Given the description of an element on the screen output the (x, y) to click on. 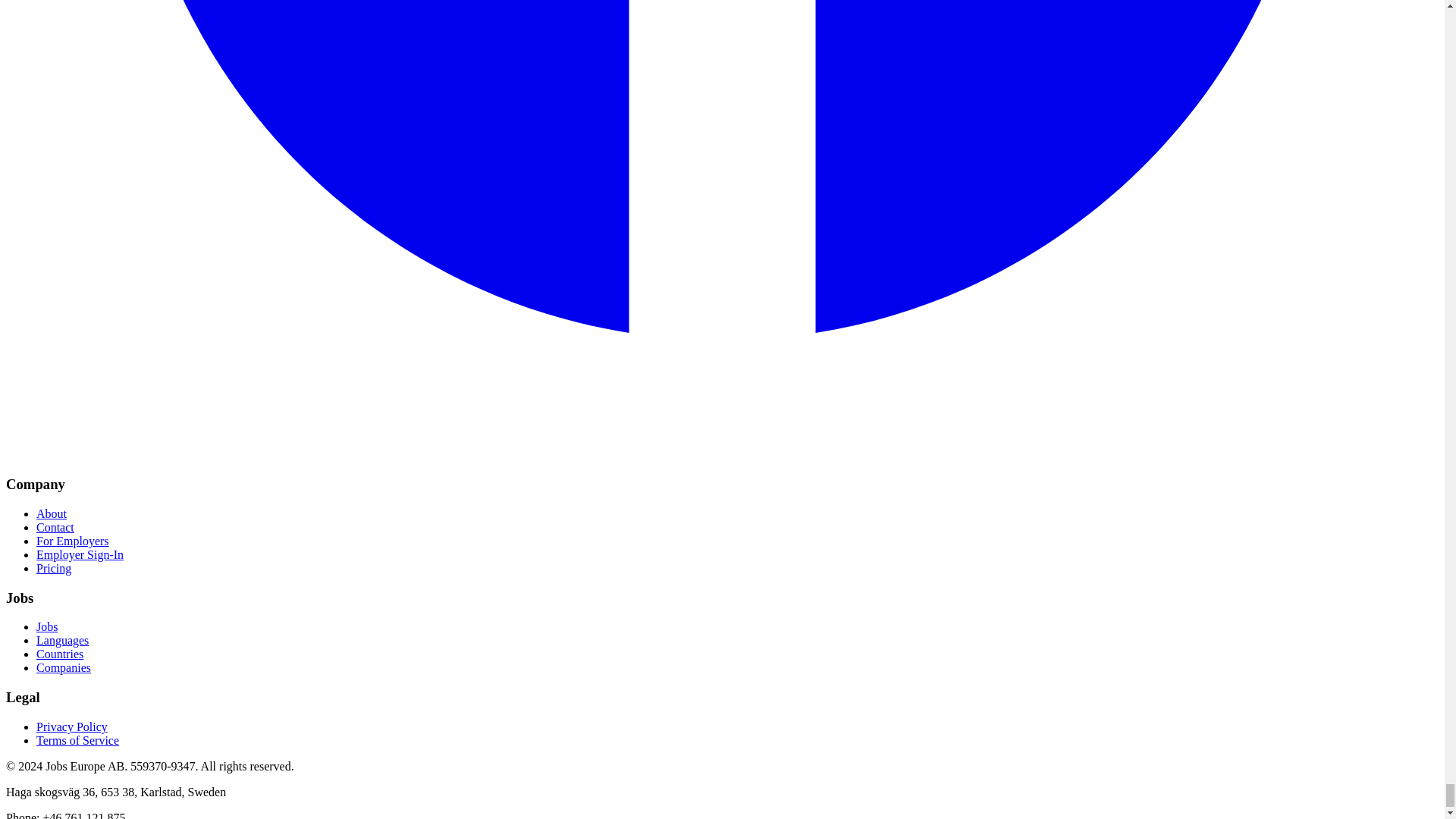
Jobs (47, 626)
Pricing (53, 567)
Contact (55, 526)
Privacy Policy (71, 726)
Languages (62, 640)
About (51, 513)
Companies (63, 667)
Terms of Service (77, 739)
Countries (59, 653)
Employer Sign-In (79, 554)
For Employers (72, 540)
